Given the description of an element on the screen output the (x, y) to click on. 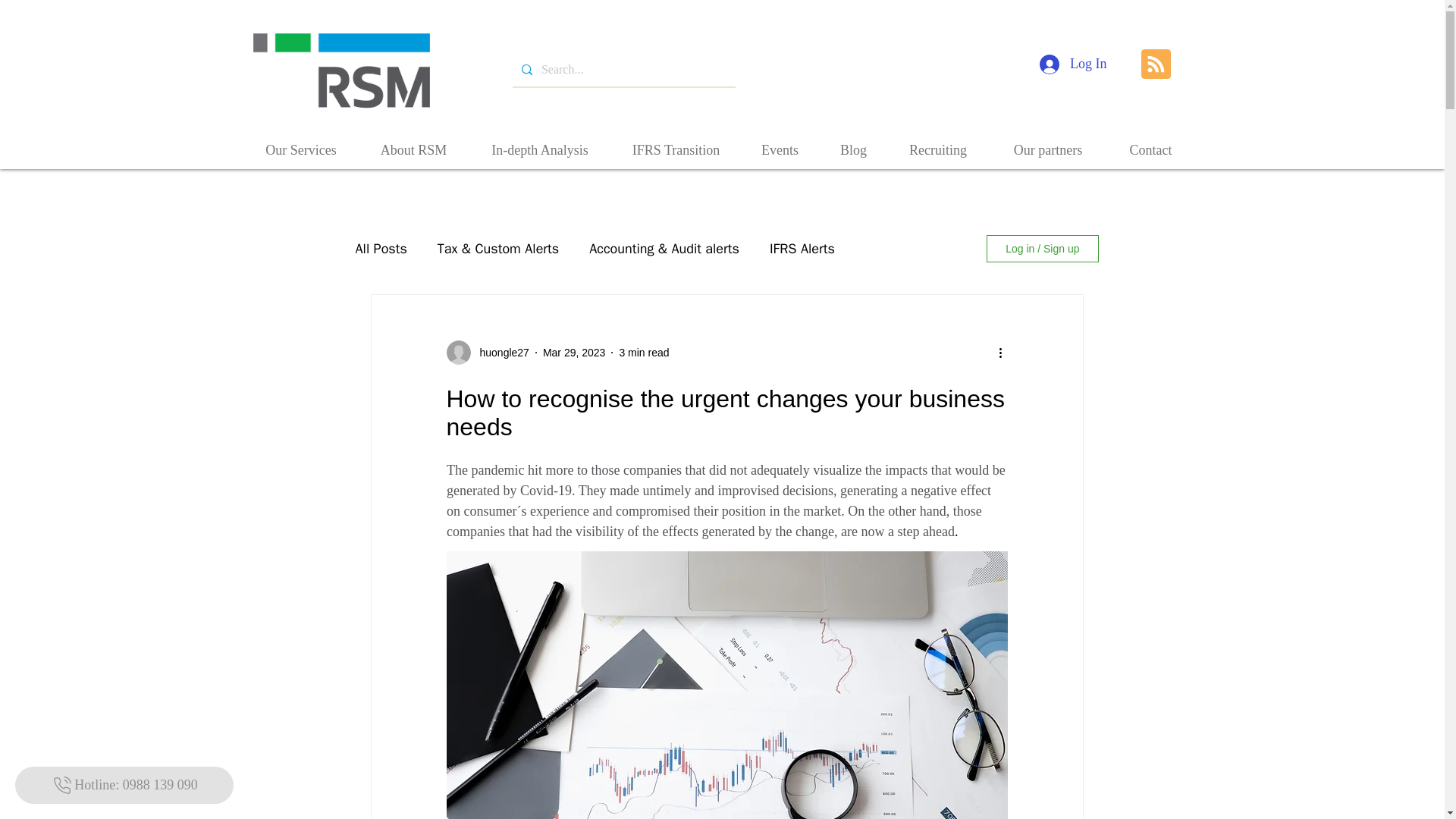
Log In (1073, 63)
Recruiting (938, 149)
Blog (853, 149)
3 min read (643, 351)
Mar 29, 2023 (574, 351)
IFRS Transition (675, 149)
huongle27 (499, 351)
Events (780, 149)
